Given the description of an element on the screen output the (x, y) to click on. 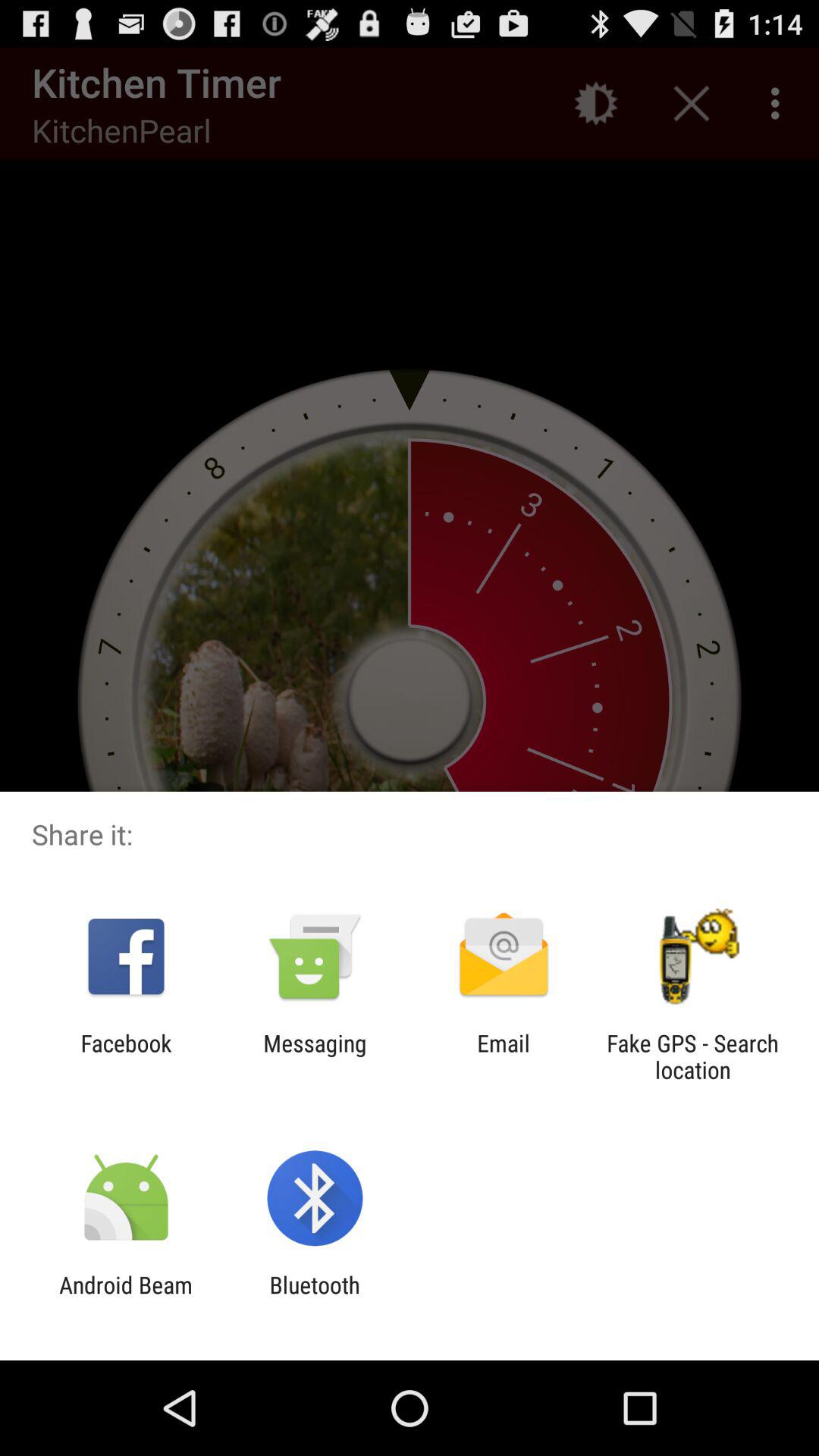
click the item to the left of the fake gps search app (503, 1056)
